Given the description of an element on the screen output the (x, y) to click on. 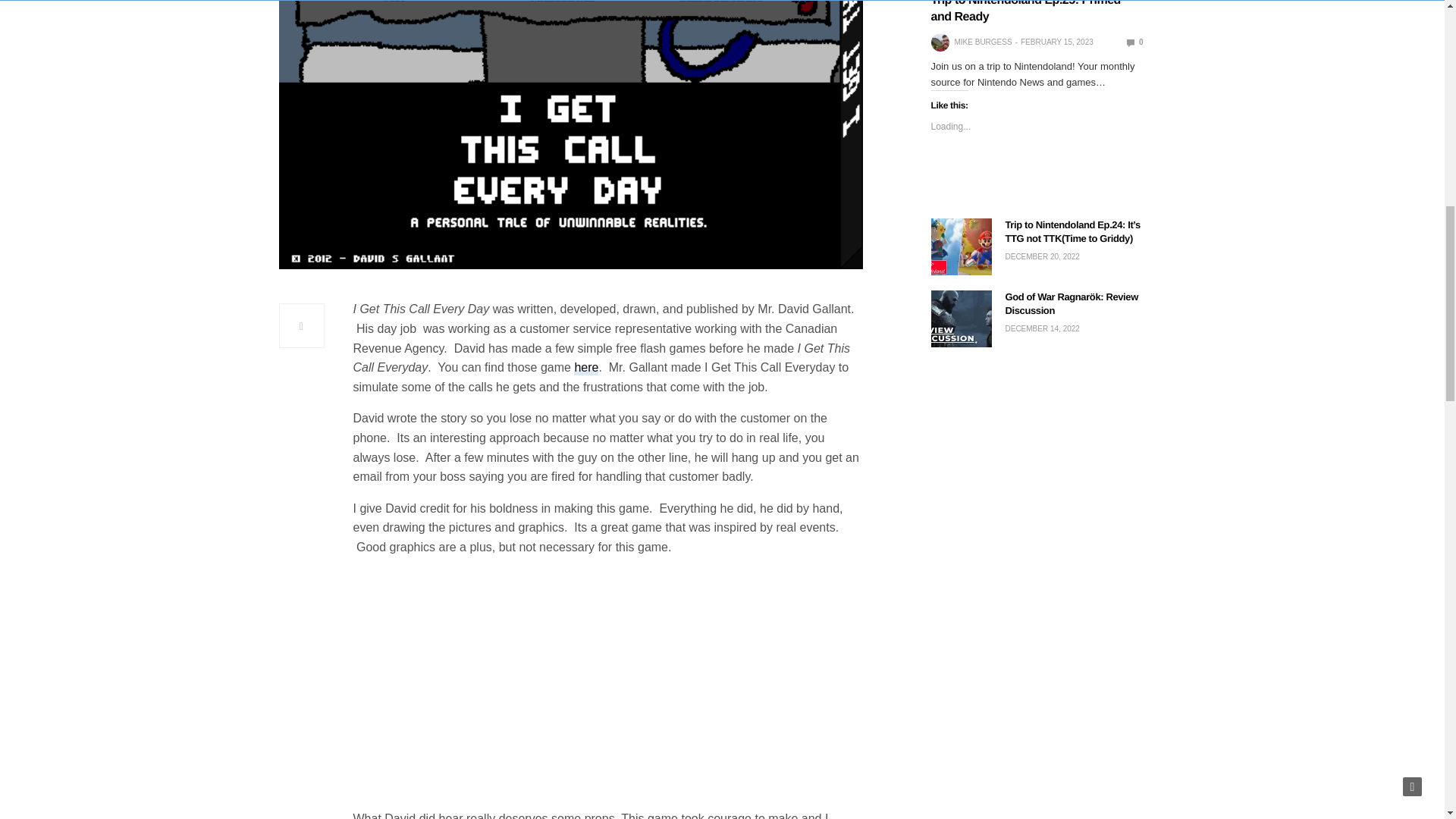
Trip to Nintendoland Ep.25: Primed and Ready (1026, 11)
Trip to Nintendoland Ep.25: Primed and Ready (1134, 41)
Posts by Mike Burgess (982, 42)
Like or Reblog (1036, 182)
